Given the description of an element on the screen output the (x, y) to click on. 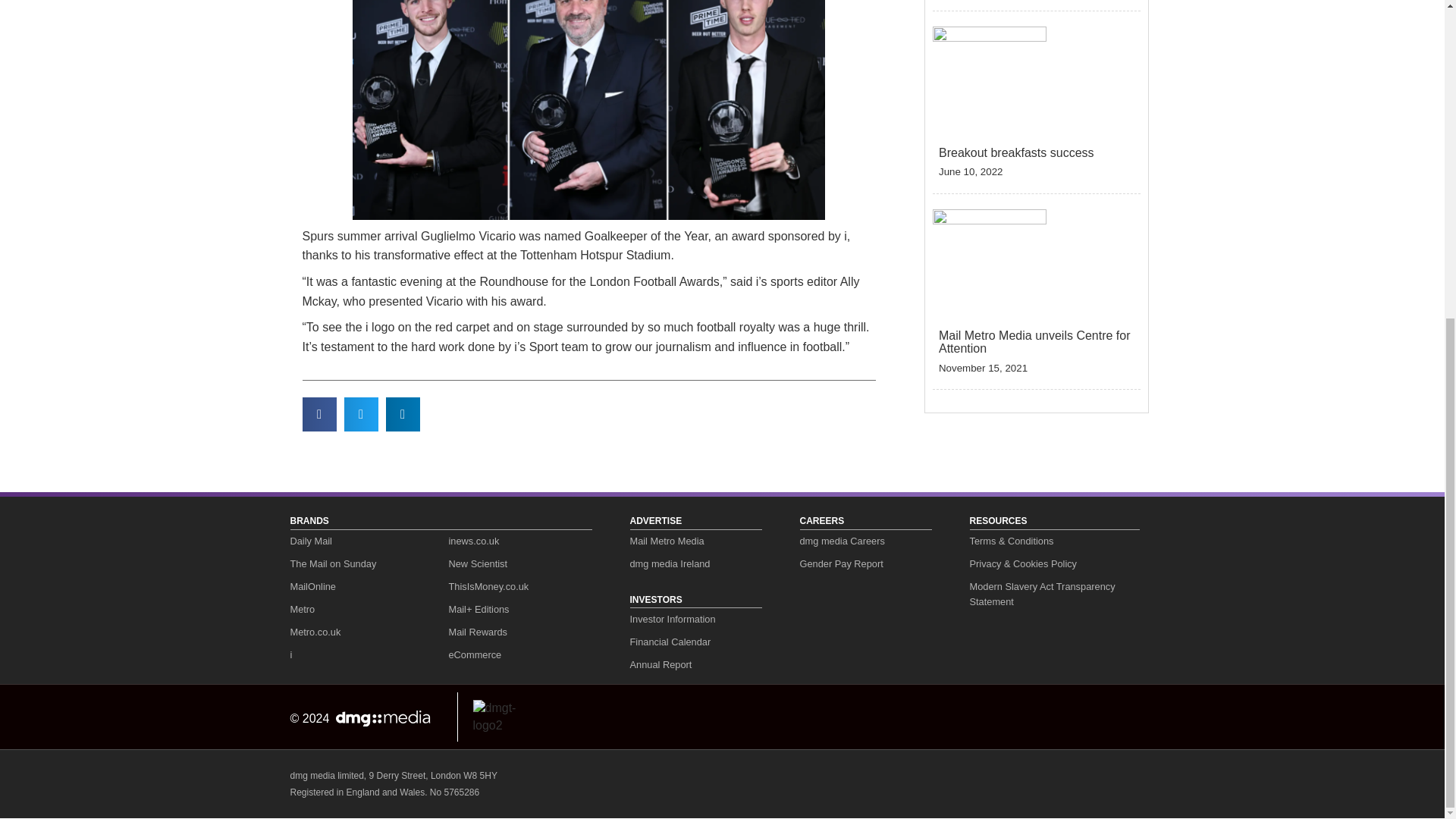
dmgt-logo2 (506, 716)
